Given the description of an element on the screen output the (x, y) to click on. 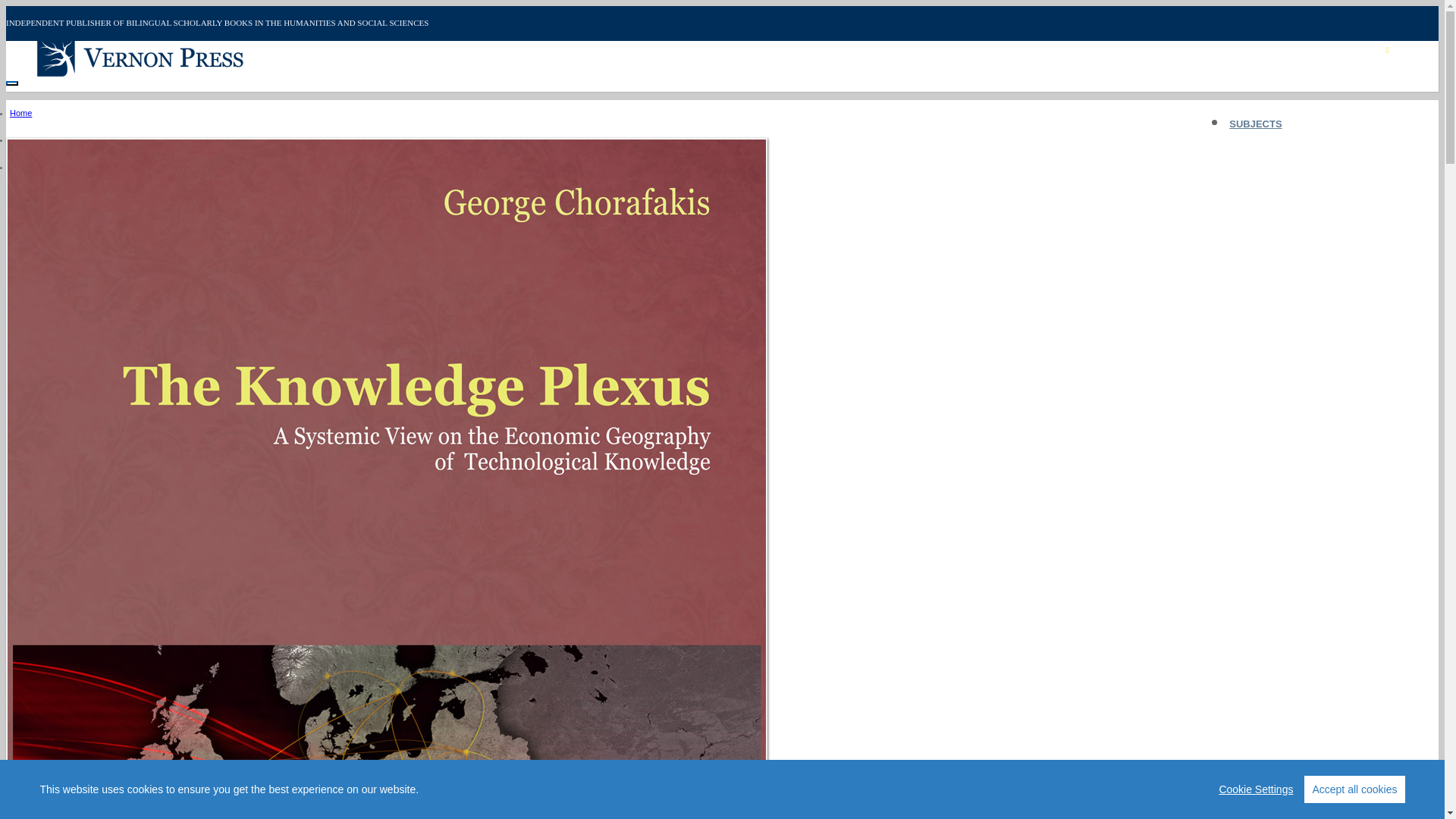
Accept all cookies (1354, 789)
ORDERING (1255, 178)
SUBJECTS (1255, 123)
BOOKS (1247, 151)
Cookie Settings (1255, 788)
